Given the description of an element on the screen output the (x, y) to click on. 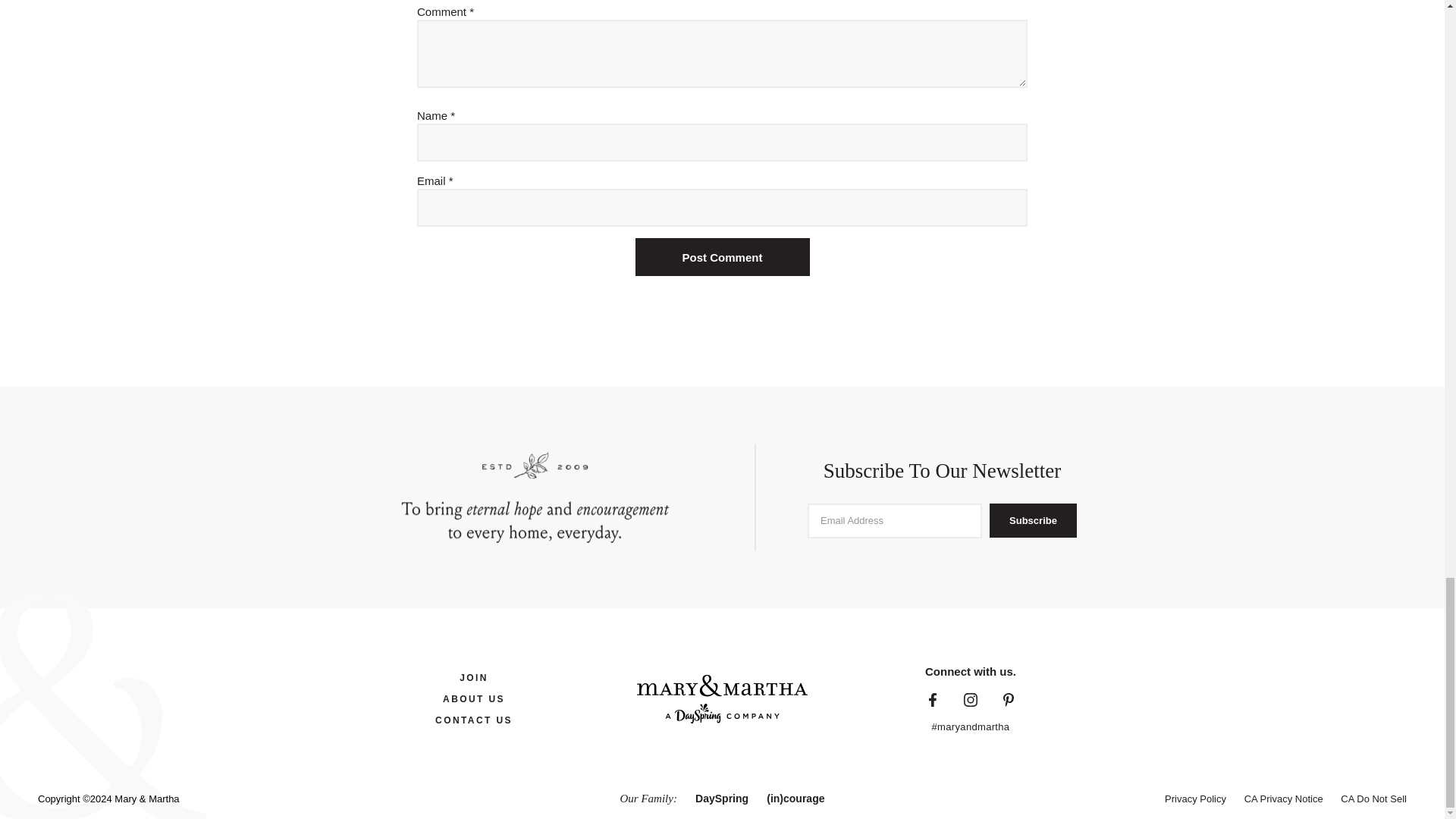
Post Comment (721, 257)
